Given the description of an element on the screen output the (x, y) to click on. 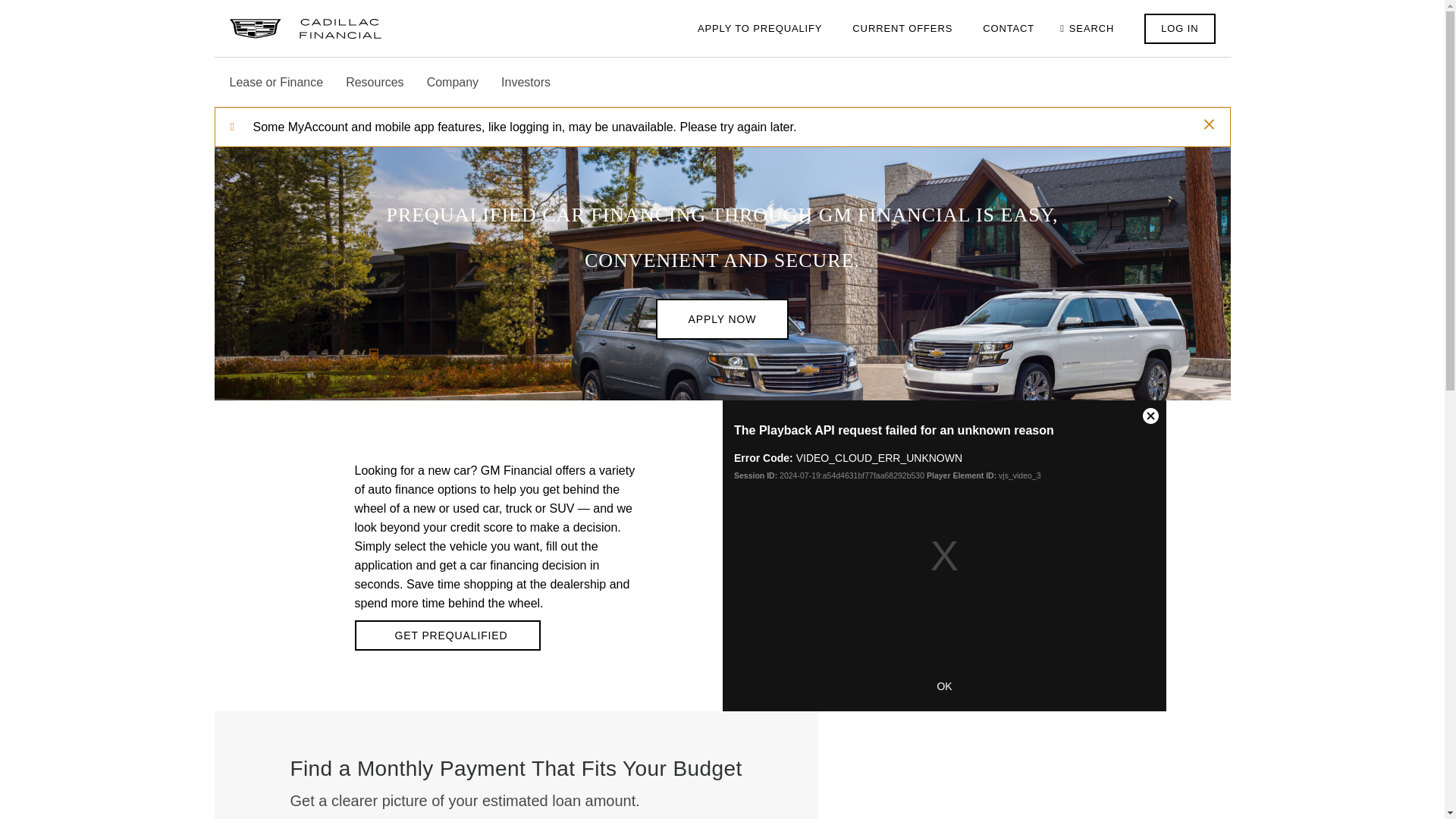
CONTACT (1008, 27)
LOG IN (1179, 28)
APPLY TO PREQUALIFY (759, 27)
SEARCH (1089, 27)
CURRENT OFFERS (902, 27)
